Given the description of an element on the screen output the (x, y) to click on. 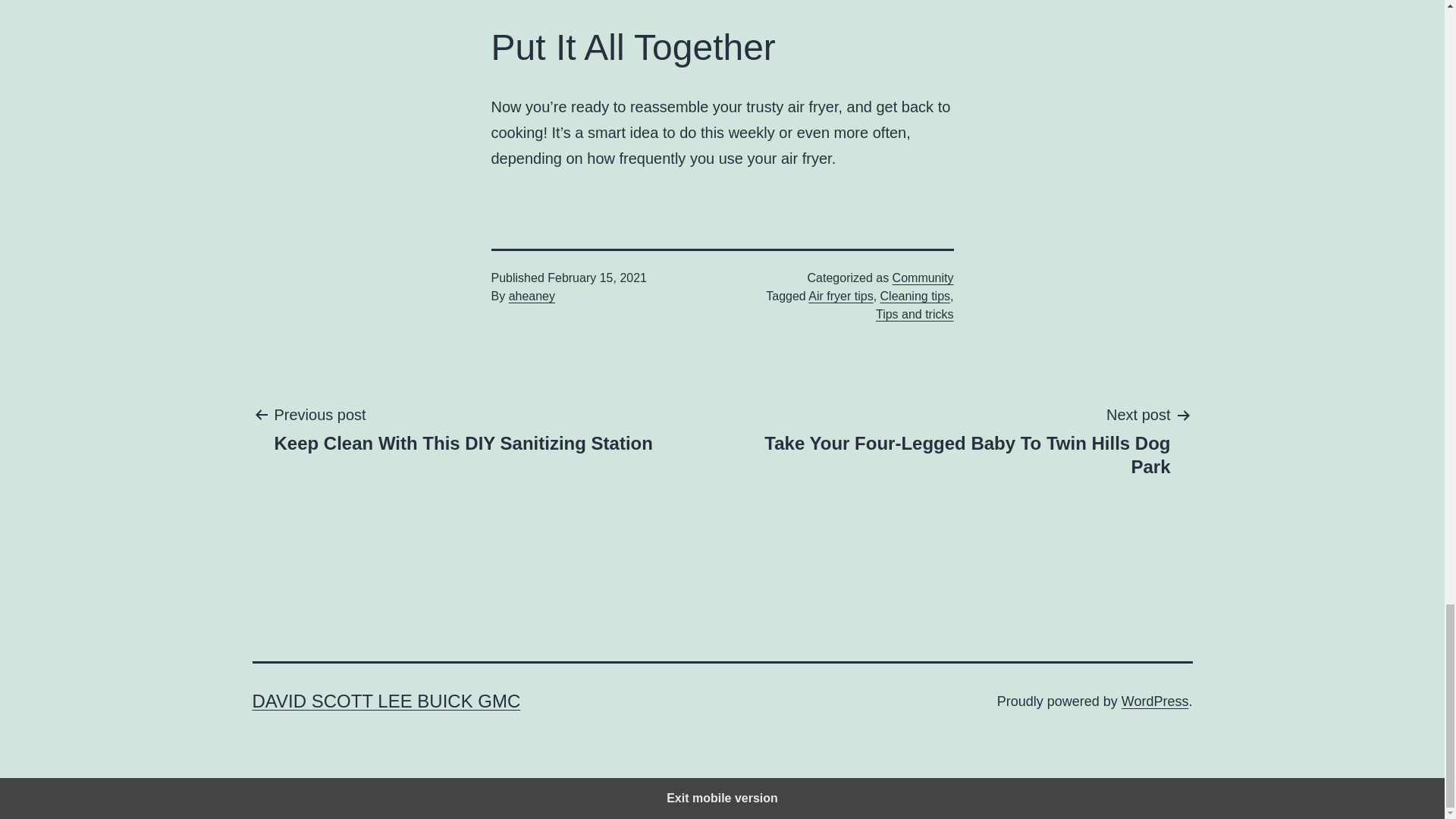
aheaney (531, 295)
Air fryer tips (840, 295)
Tips and tricks (914, 314)
WordPress (1155, 701)
Cleaning tips (915, 295)
DAVID SCOTT LEE BUICK GMC (385, 701)
Community (922, 277)
